Given the description of an element on the screen output the (x, y) to click on. 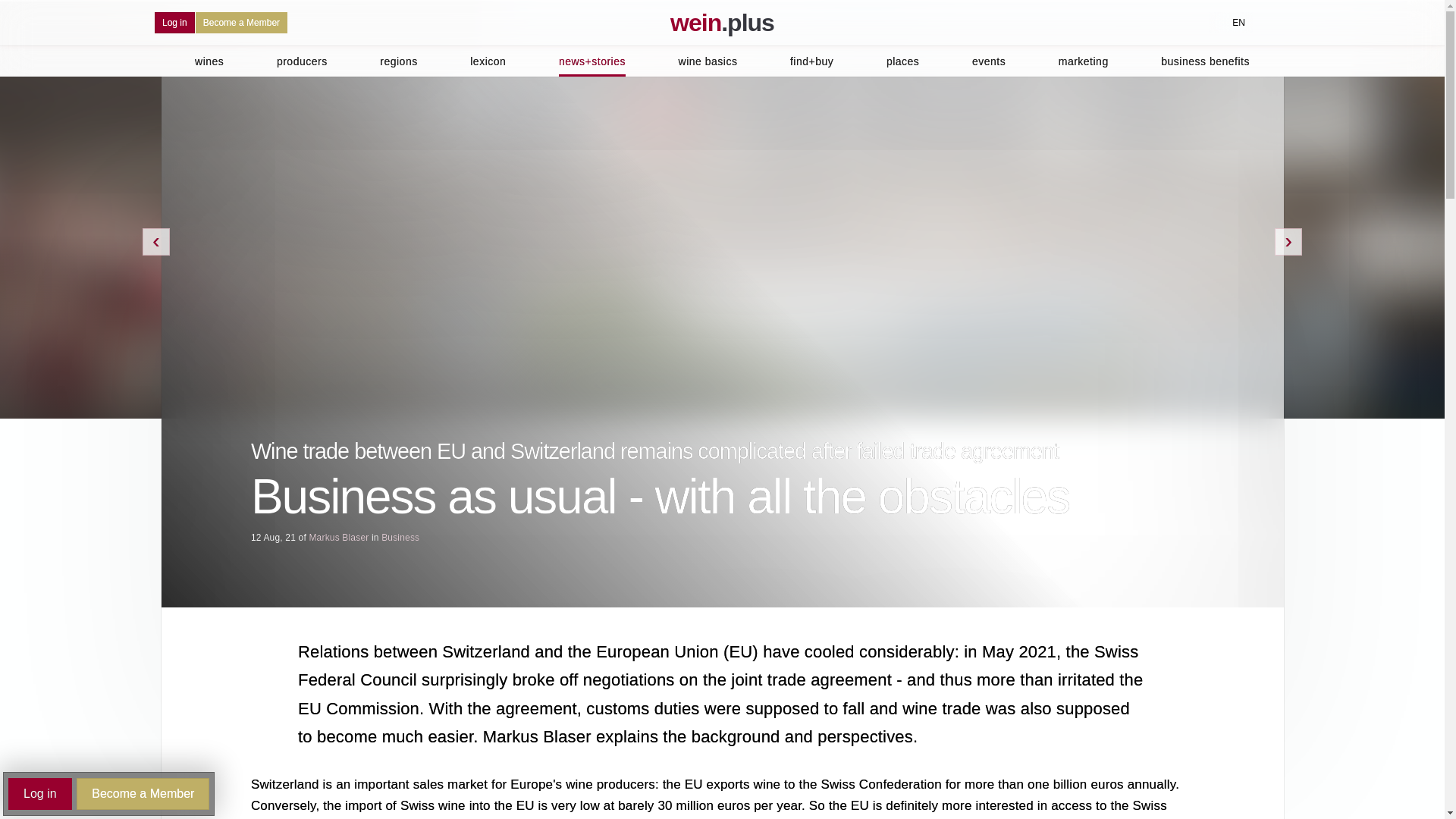
marketing (1083, 60)
English Language (1237, 22)
Log in (174, 22)
Benefits (240, 22)
Country (1230, 22)
country: Other (1222, 22)
places (902, 60)
producers (301, 60)
EN (1230, 22)
business benefits (1204, 60)
